Given the description of an element on the screen output the (x, y) to click on. 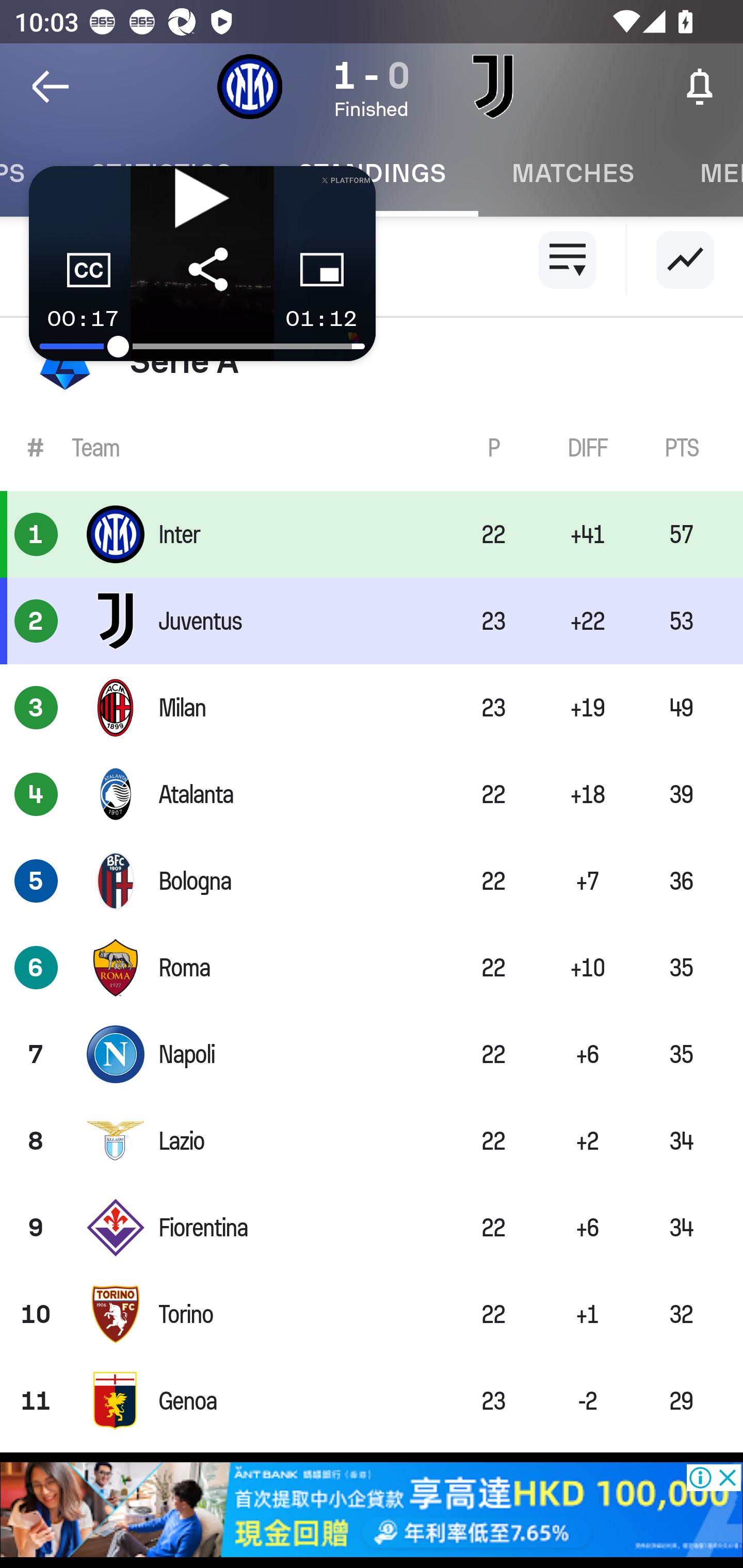
Navigate up (50, 86)
Matches MATCHES (572, 173)
# Team P DIFF PTS (371, 447)
1 Inter 22 +41 57 (371, 533)
1 (36, 533)
2 Juventus 23 +22 53 (371, 620)
2 (36, 620)
3 Milan 23 +19 49 (371, 707)
3 (36, 707)
4 Atalanta 22 +18 39 (371, 794)
4 (36, 794)
5 Bologna 22 +7 36 (371, 880)
5 (36, 880)
6 Roma 22 +10 35 (371, 967)
6 (36, 967)
7 Napoli 22 +6 35 (371, 1054)
7 (36, 1054)
8 Lazio 22 +2 34 (371, 1140)
8 (36, 1140)
9 Fiorentina 22 +6 34 (371, 1227)
9 (36, 1227)
10 Torino 22 +1 32 (371, 1314)
10 (36, 1314)
11 Genoa 23 -2 29 (371, 1400)
11 (36, 1400)
